Given the description of an element on the screen output the (x, y) to click on. 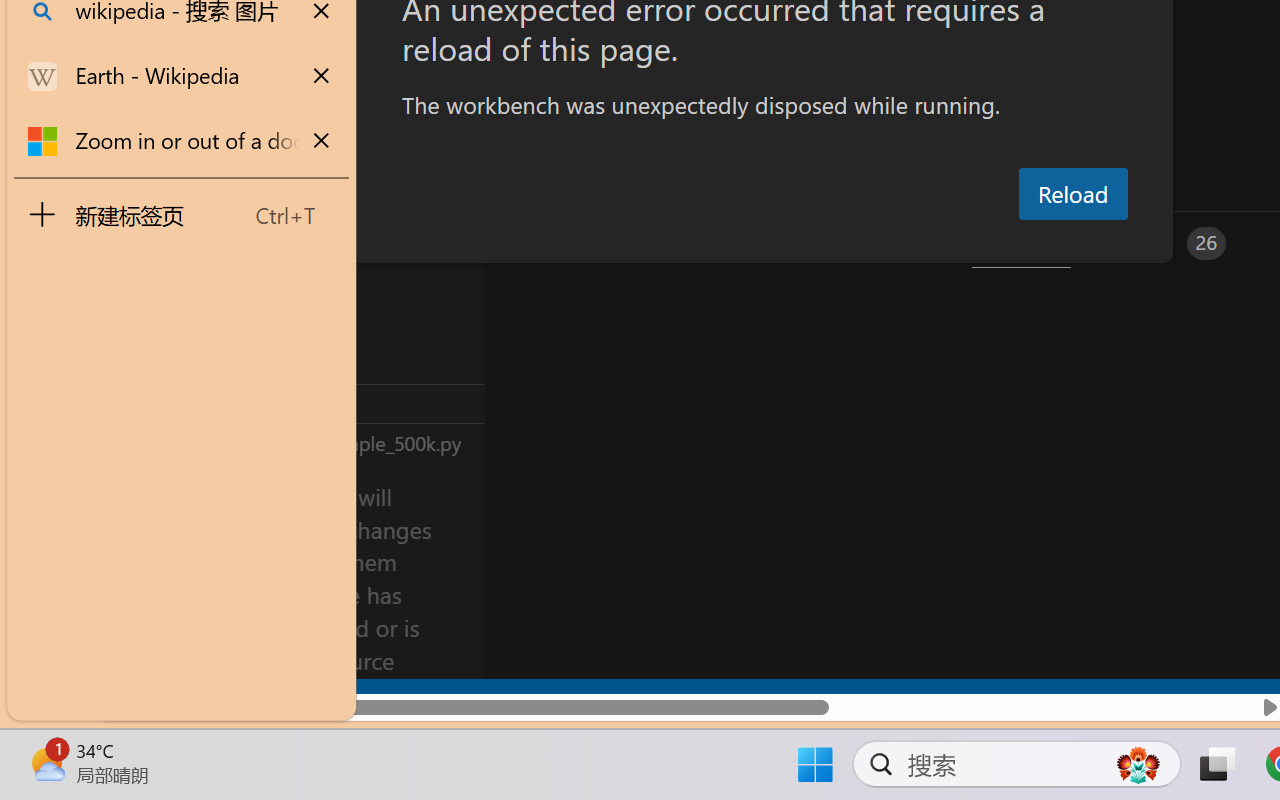
Timeline Section (331, 442)
remote (122, 698)
Outline Section (331, 403)
Accounts - Sign in requested (135, 548)
Output (Ctrl+Shift+U) (696, 243)
Debug Console (Ctrl+Shift+Y) (854, 243)
